Given the description of an element on the screen output the (x, y) to click on. 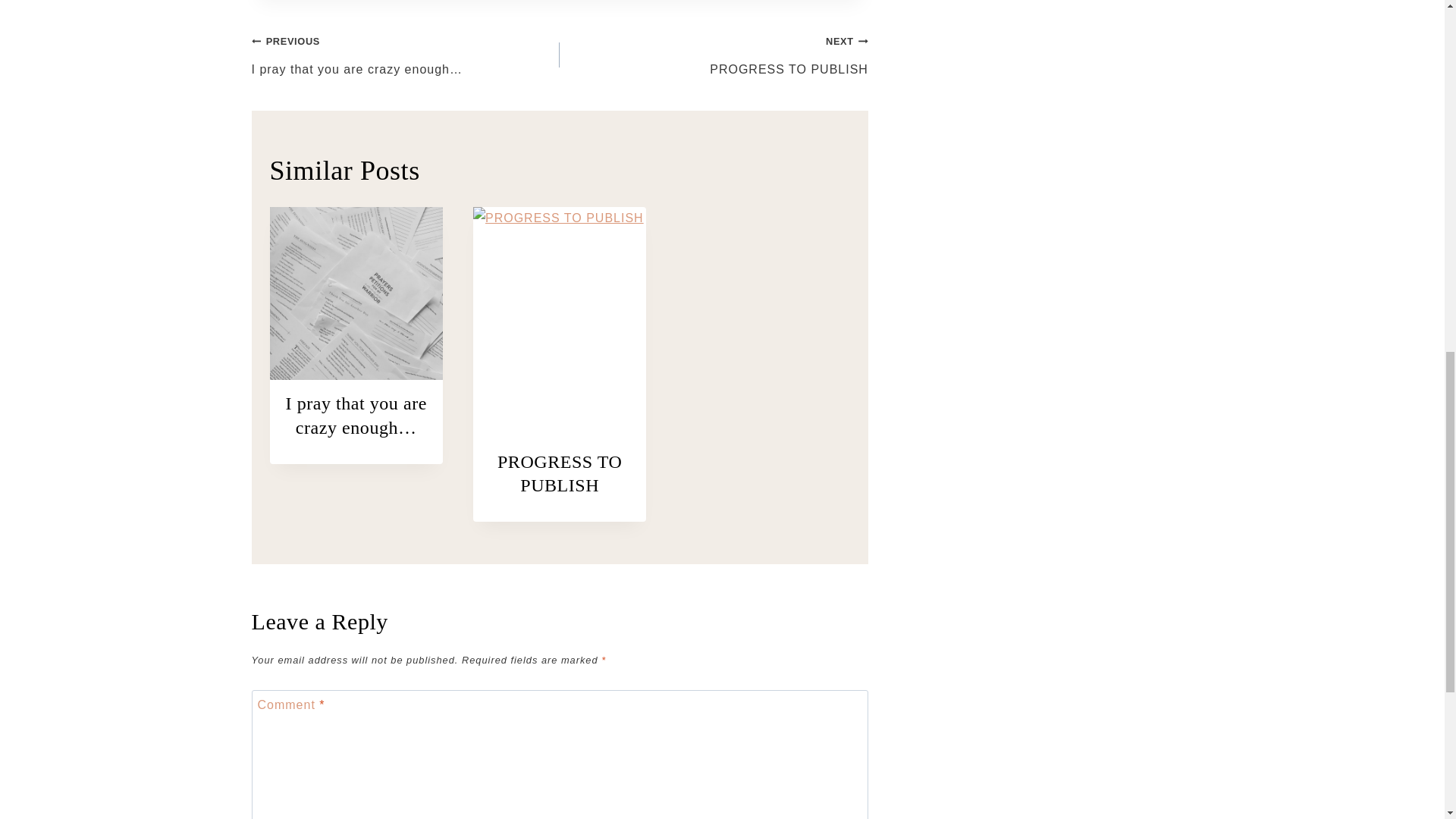
PROGRESS TO PUBLISH (713, 54)
